Given the description of an element on the screen output the (x, y) to click on. 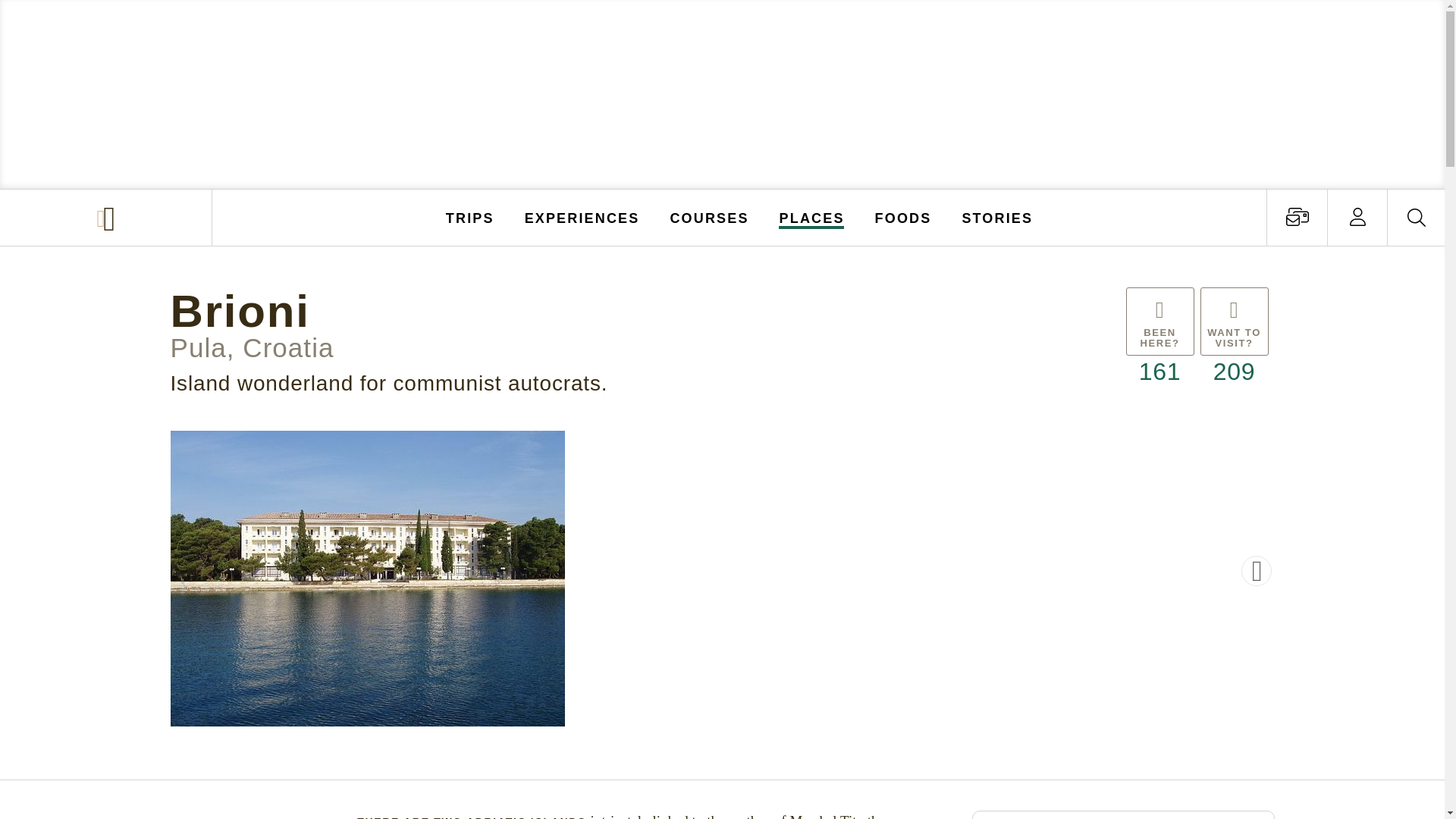
PLACES (812, 217)
TRIPS (469, 217)
COURSES (707, 217)
EXPERIENCES (582, 217)
